Given the description of an element on the screen output the (x, y) to click on. 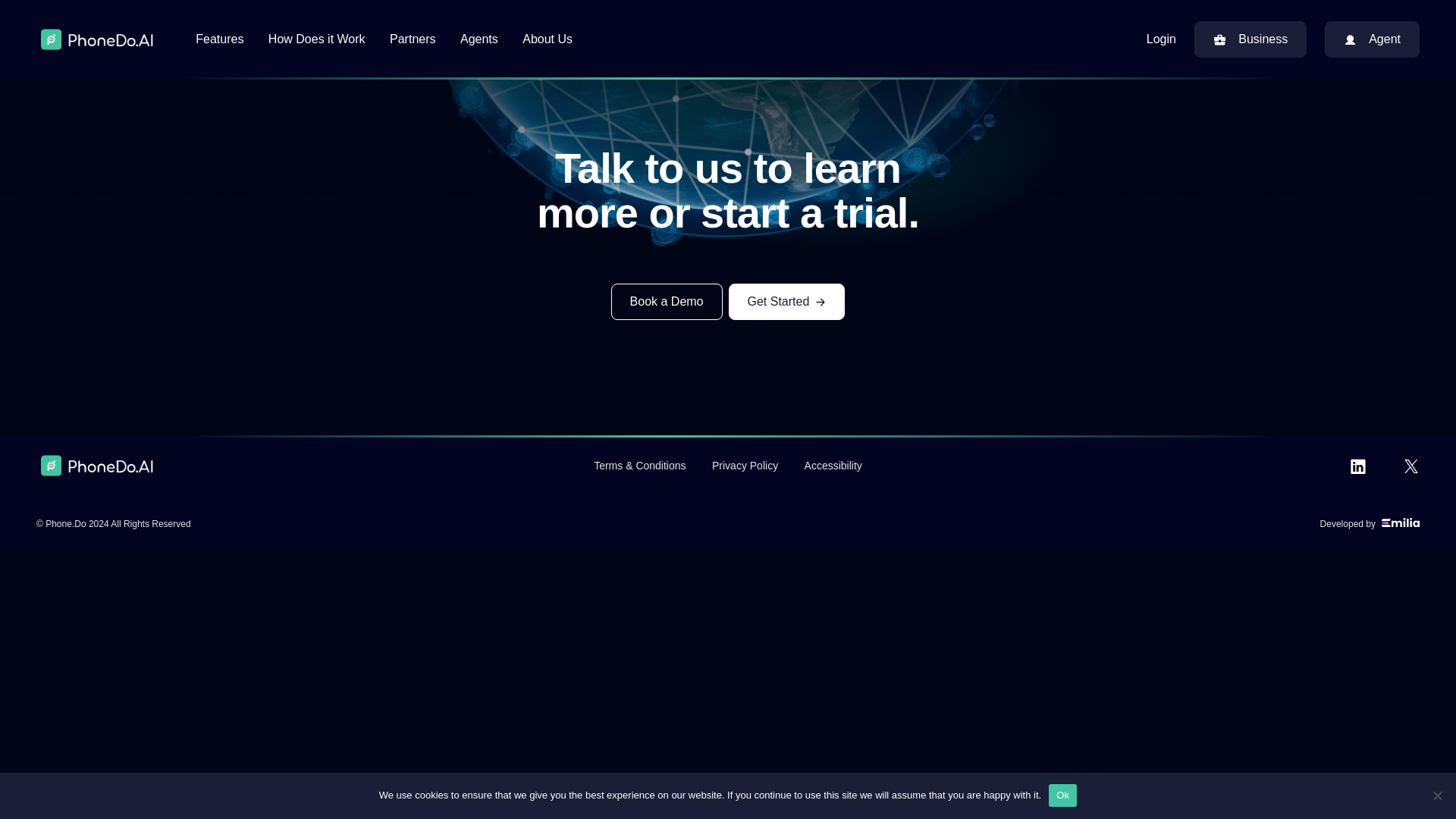
How Does it Work (316, 38)
About Us (547, 38)
Accessibility (833, 465)
Agents (478, 38)
Privacy Policy (744, 465)
Book a Demo (666, 301)
Developed by (1369, 523)
Business (1249, 39)
Agent (1371, 39)
Get Started (786, 301)
